Given the description of an element on the screen output the (x, y) to click on. 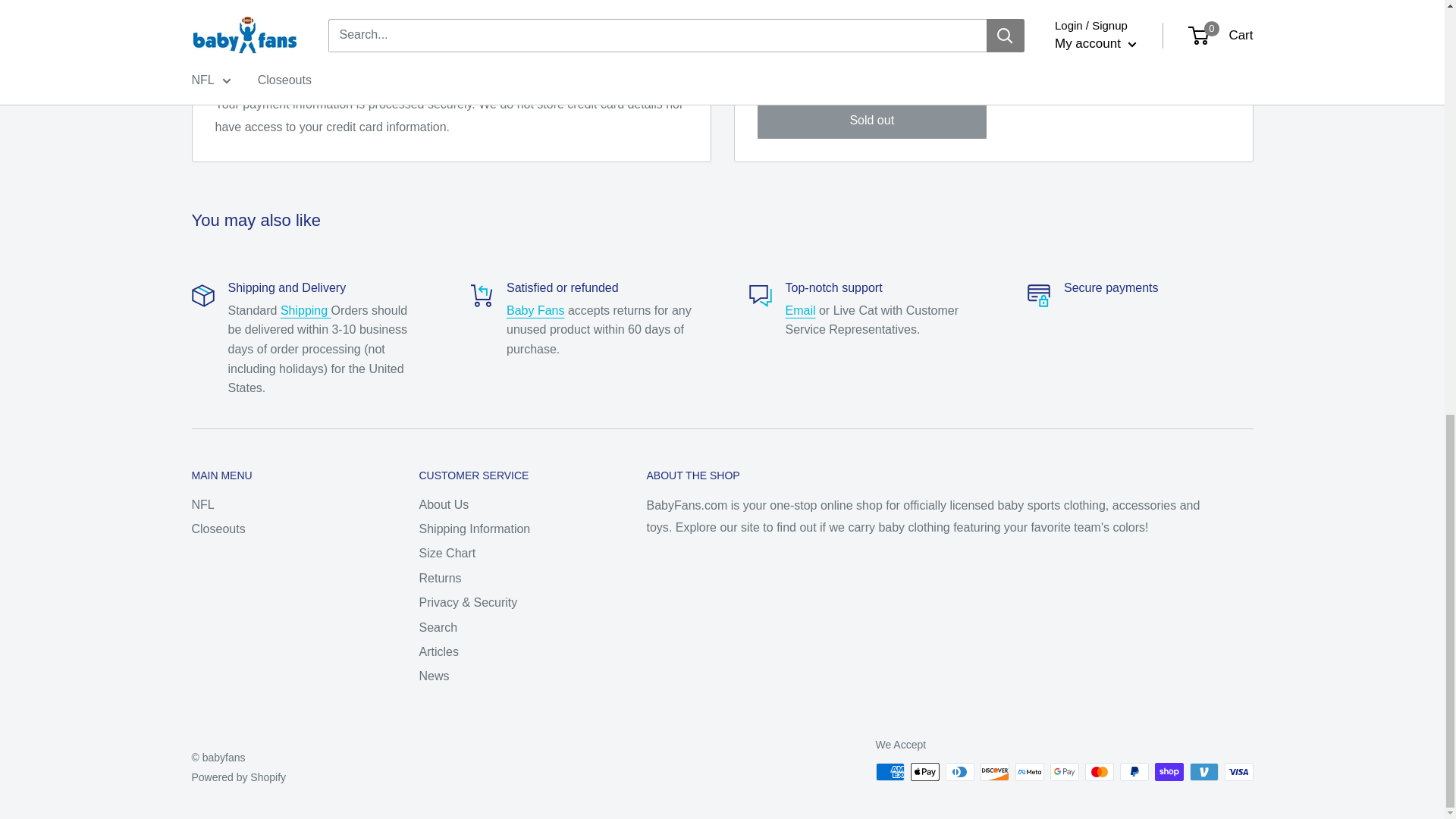
Contact Us (800, 309)
Shipping Policy (306, 309)
Returns (535, 309)
